Given the description of an element on the screen output the (x, y) to click on. 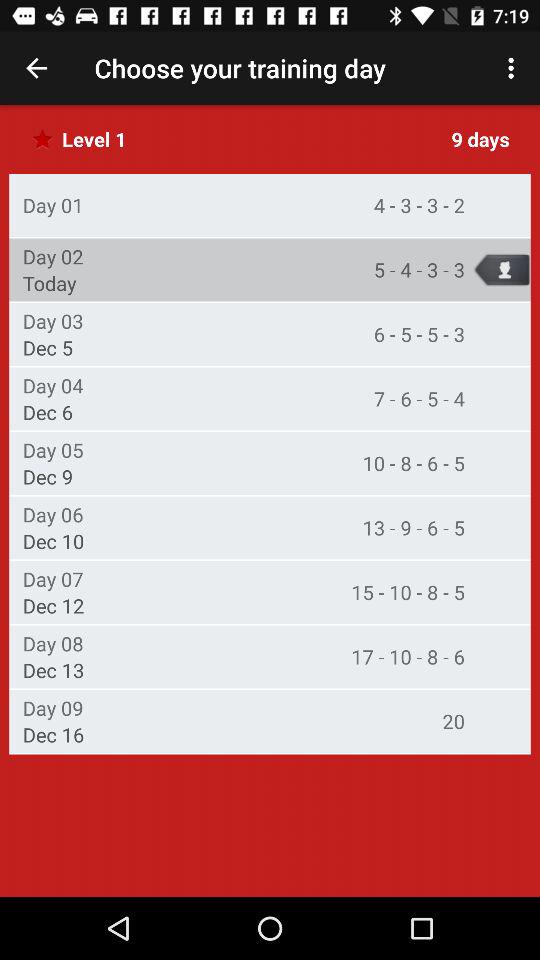
jump to today icon (49, 283)
